Given the description of an element on the screen output the (x, y) to click on. 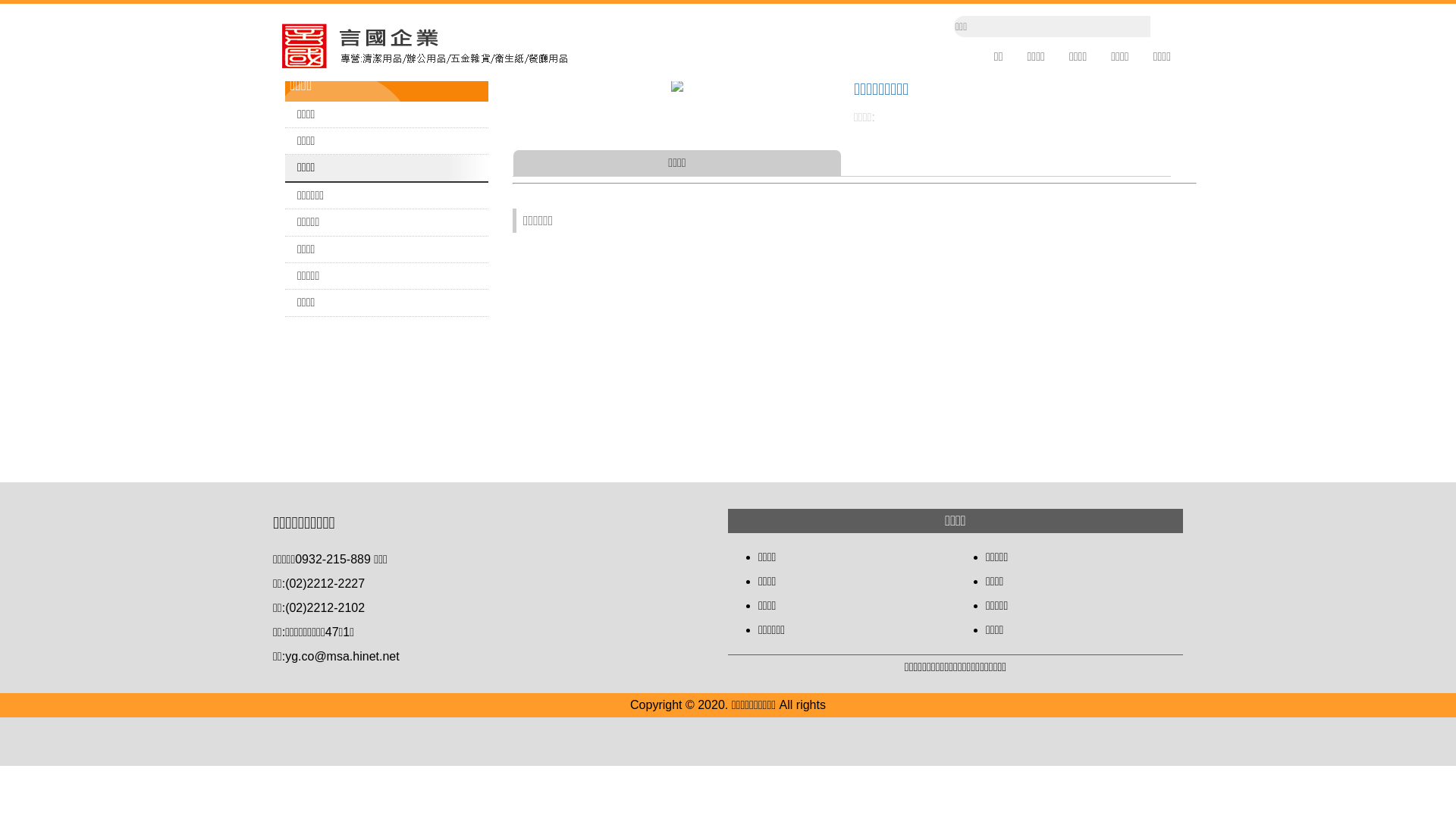
ALL Element type: text (546, 63)
